Given the description of an element on the screen output the (x, y) to click on. 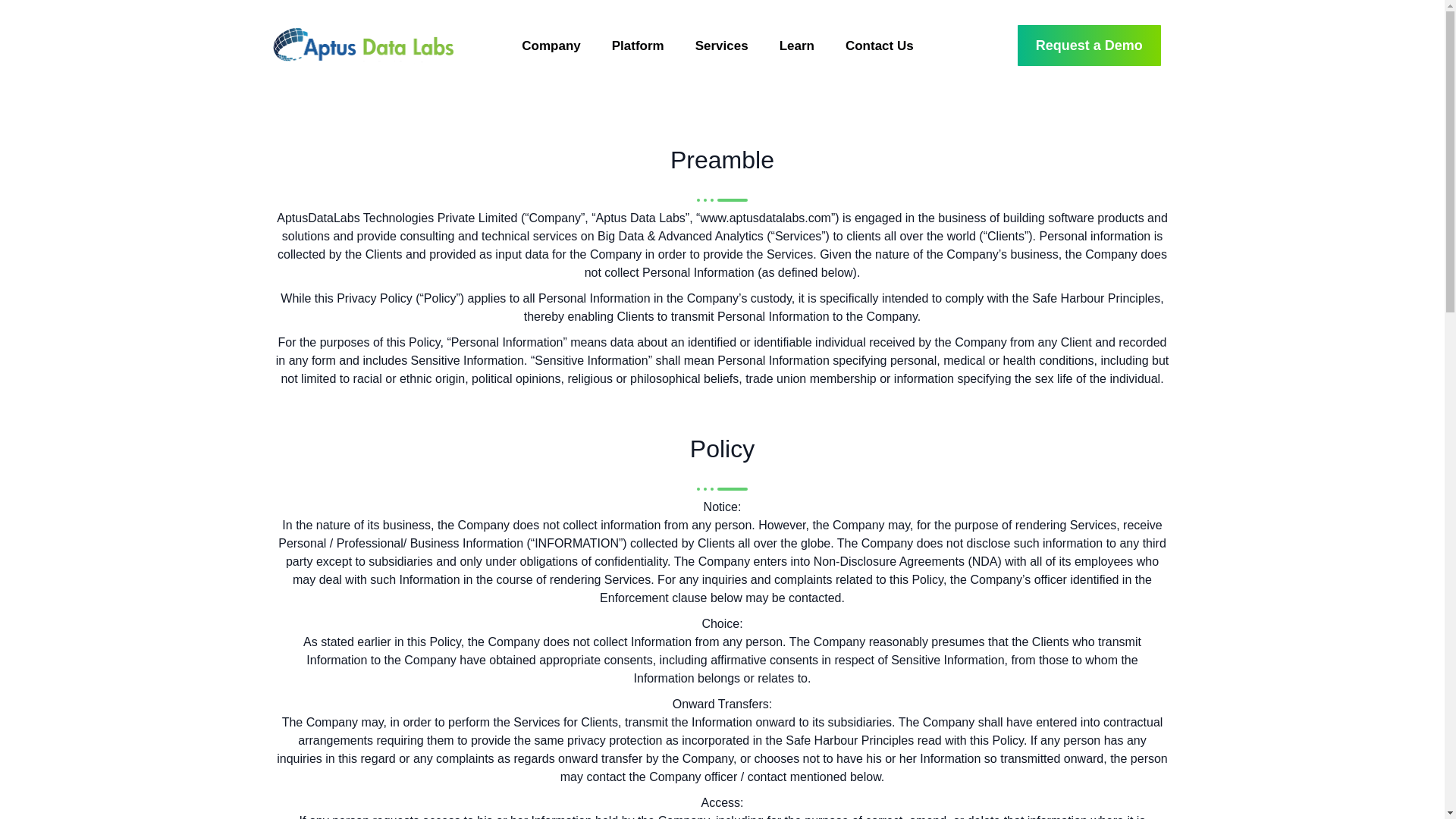
Company (555, 44)
Platform (641, 44)
Services (726, 44)
